Given the description of an element on the screen output the (x, y) to click on. 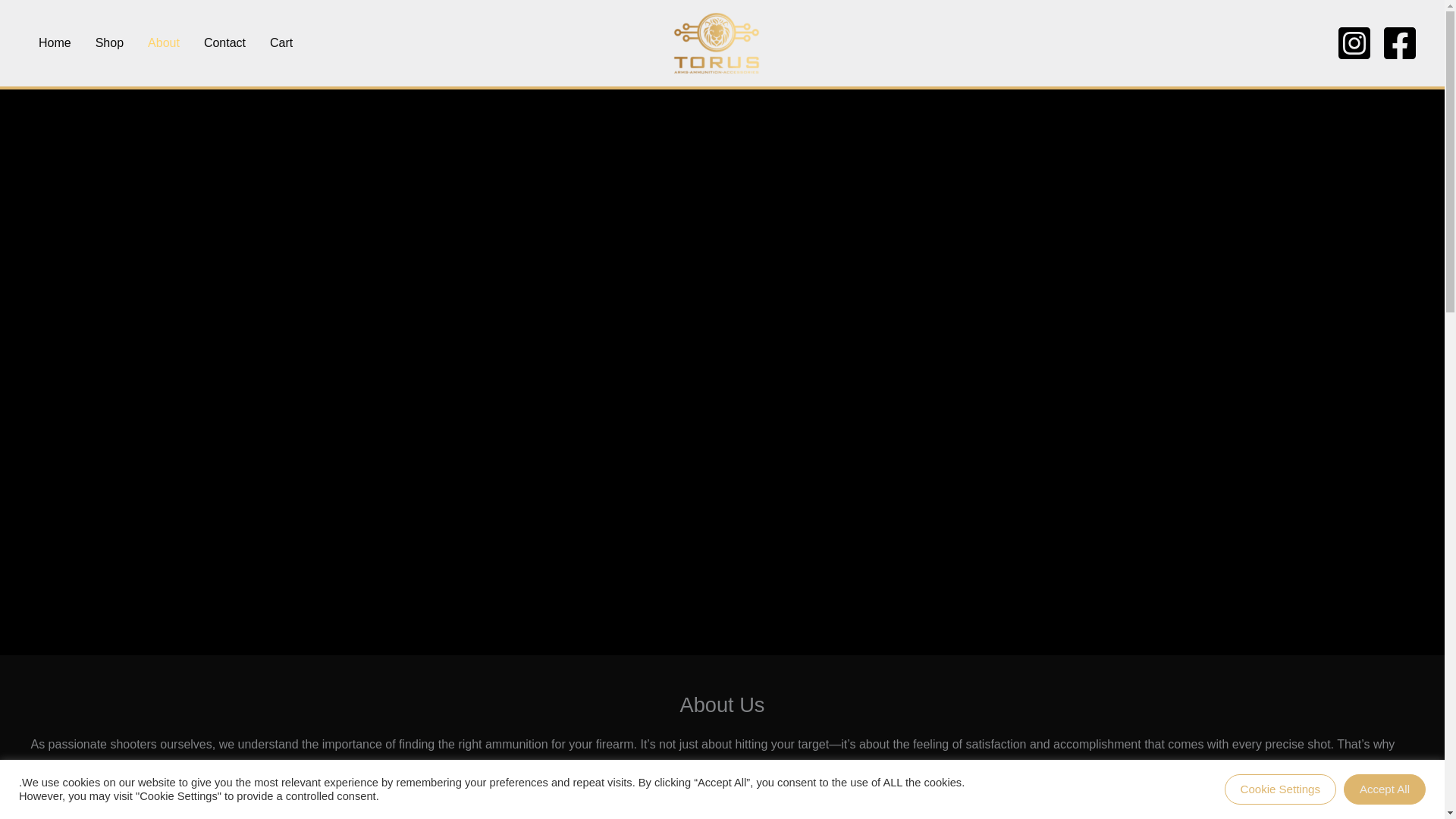
About (163, 42)
Shop (108, 42)
Contact (224, 42)
Home (54, 42)
Cart (280, 42)
